Given the description of an element on the screen output the (x, y) to click on. 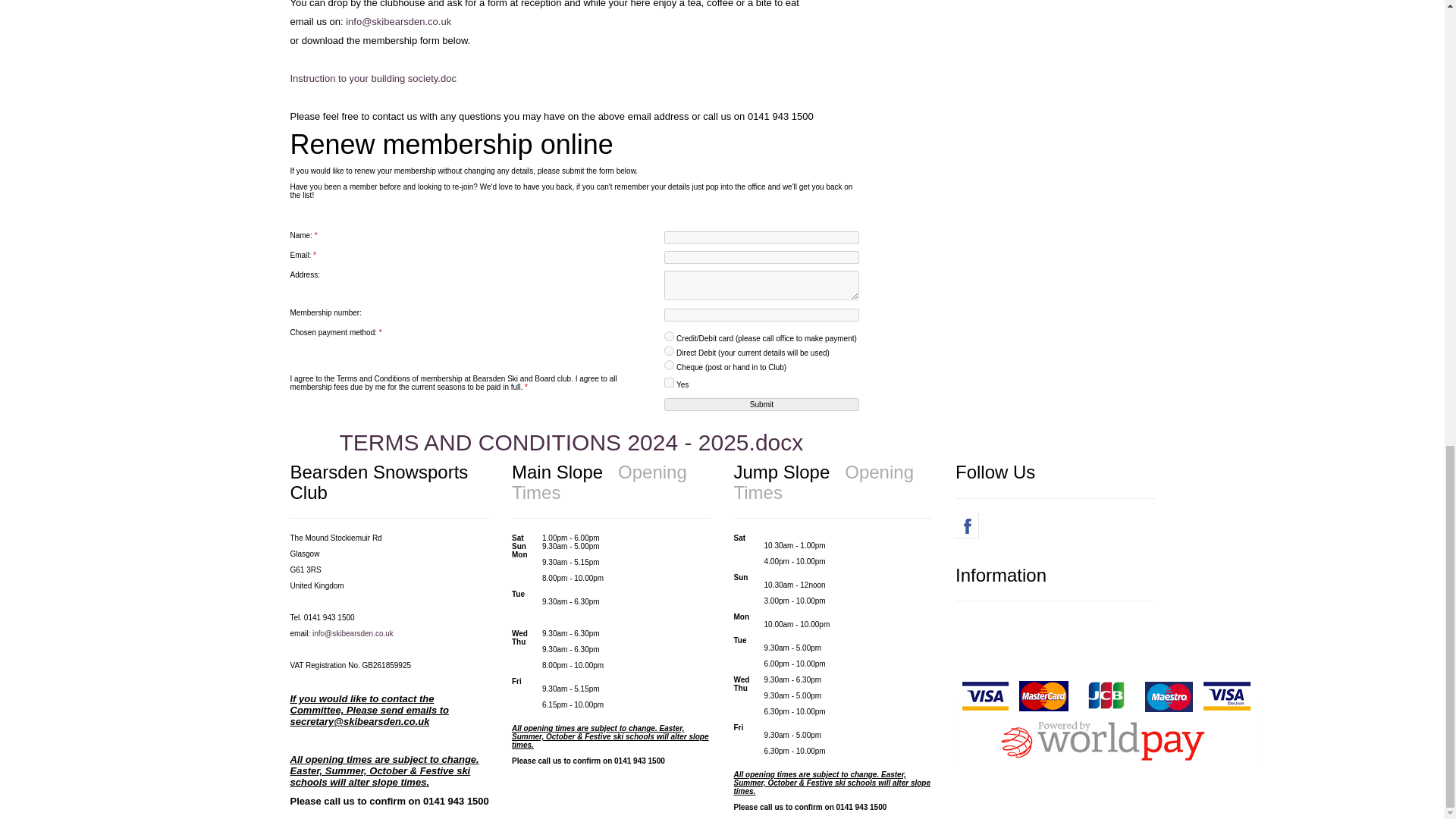
Instruction to your building society.doc (372, 78)
Refund policy (978, 620)
Yes (668, 382)
Submit (761, 404)
Guidelines to Manufacturers and Retailers (1026, 640)
GDPR POLICY (981, 630)
Submit (761, 404)
TERMS AND CONDITIONS 2024 - 2025.docx (571, 442)
Facebook (966, 526)
Facebook (966, 526)
